Given the description of an element on the screen output the (x, y) to click on. 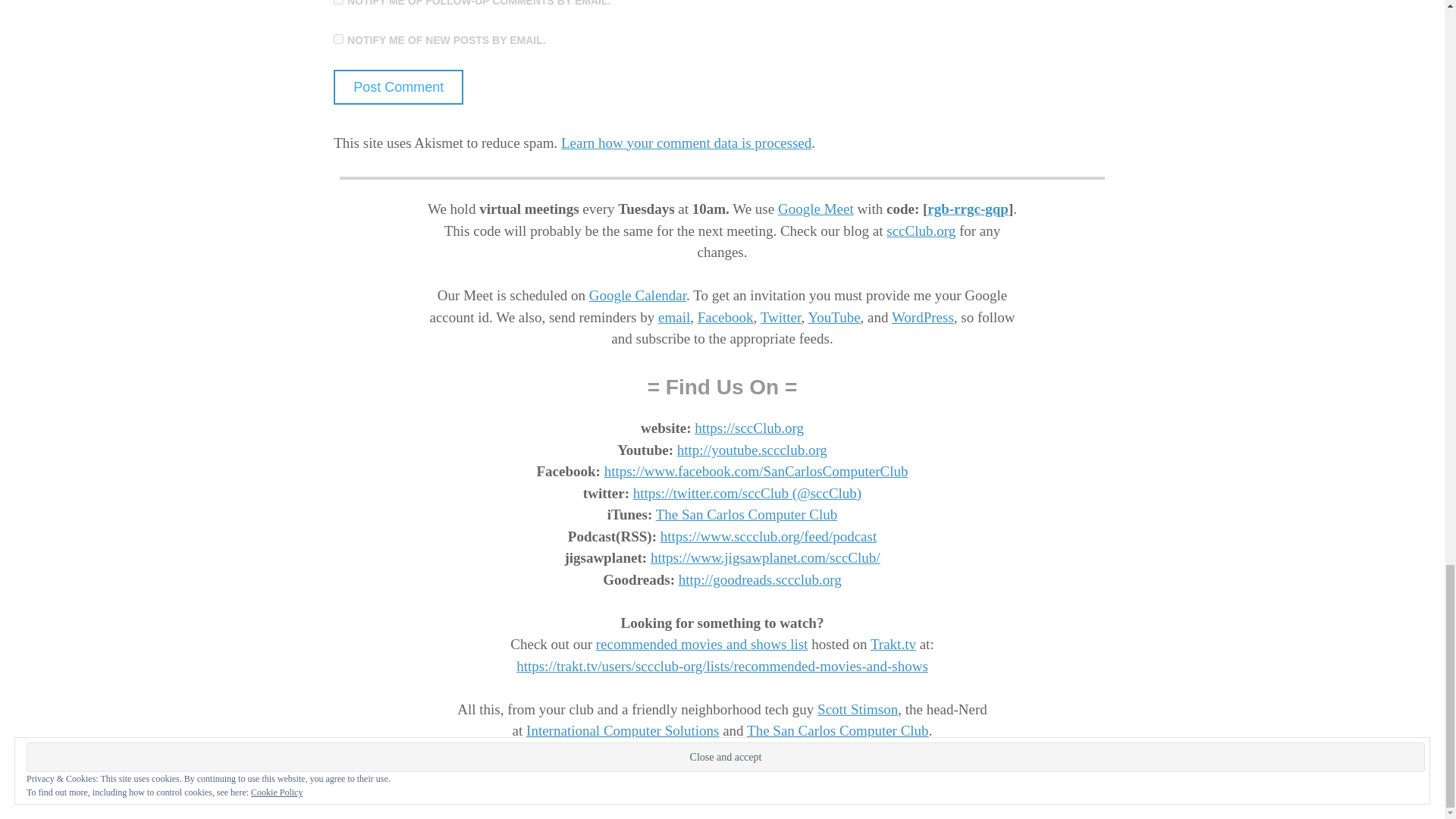
Post Comment (398, 86)
subscribe (338, 39)
subscribe (338, 2)
